Given the description of an element on the screen output the (x, y) to click on. 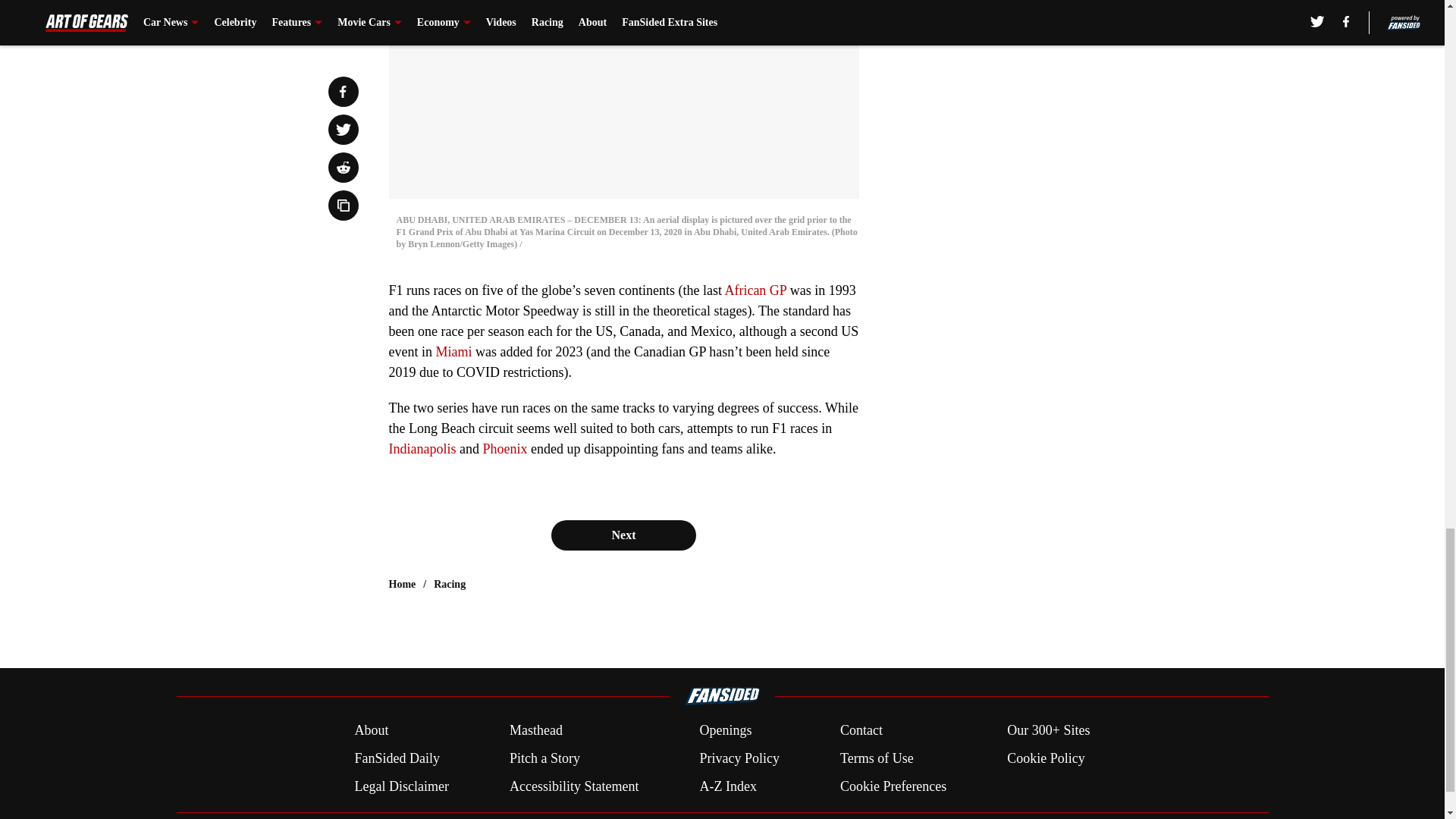
Phoenix (504, 448)
Miami (453, 351)
African GP (754, 290)
Indianapolis (421, 448)
Next (622, 535)
